Given the description of an element on the screen output the (x, y) to click on. 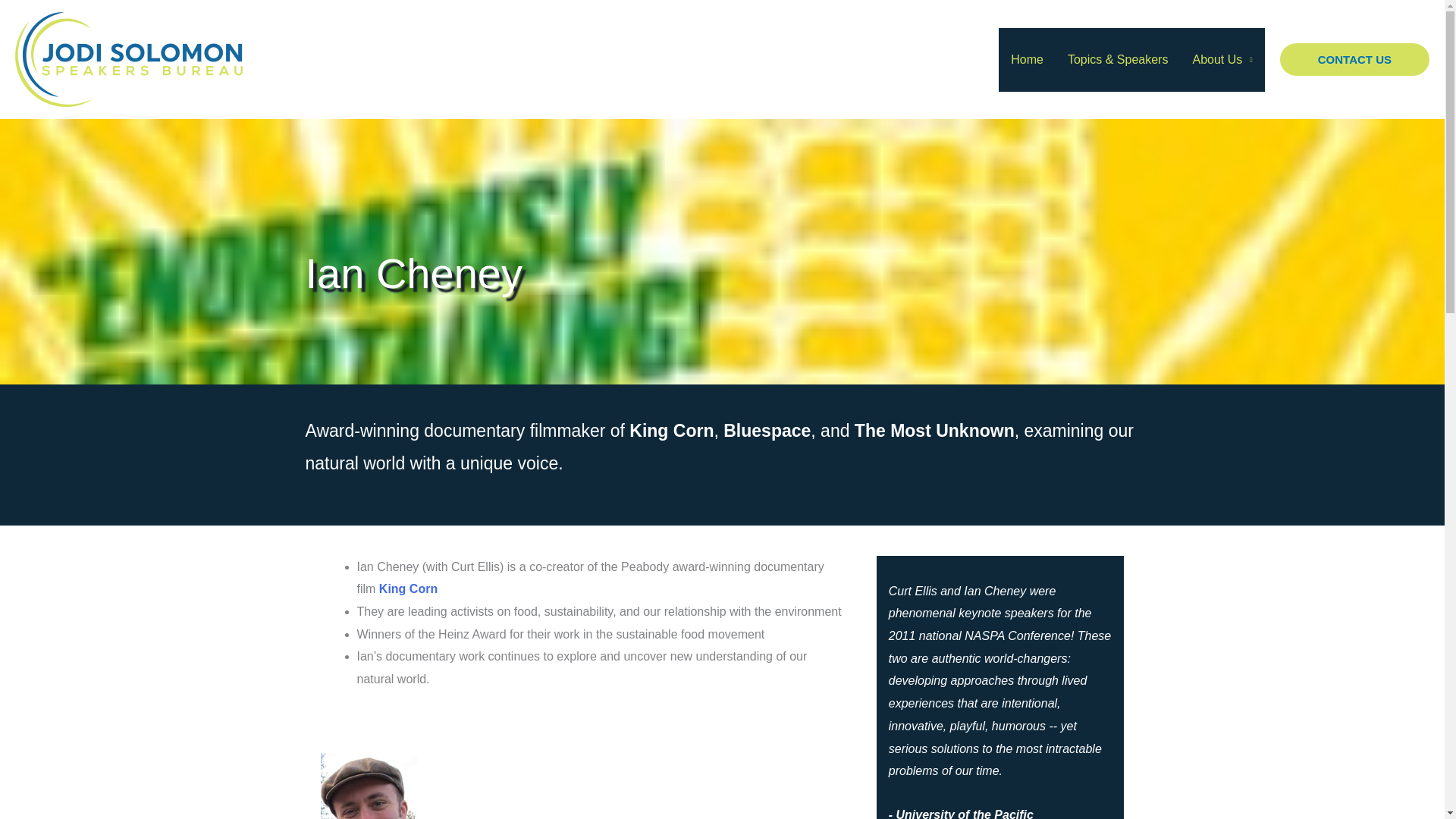
King Corn (408, 588)
Home (1026, 58)
King Corn  (408, 588)
CONTACT US (1354, 59)
About Us (1221, 58)
